Given the description of an element on the screen output the (x, y) to click on. 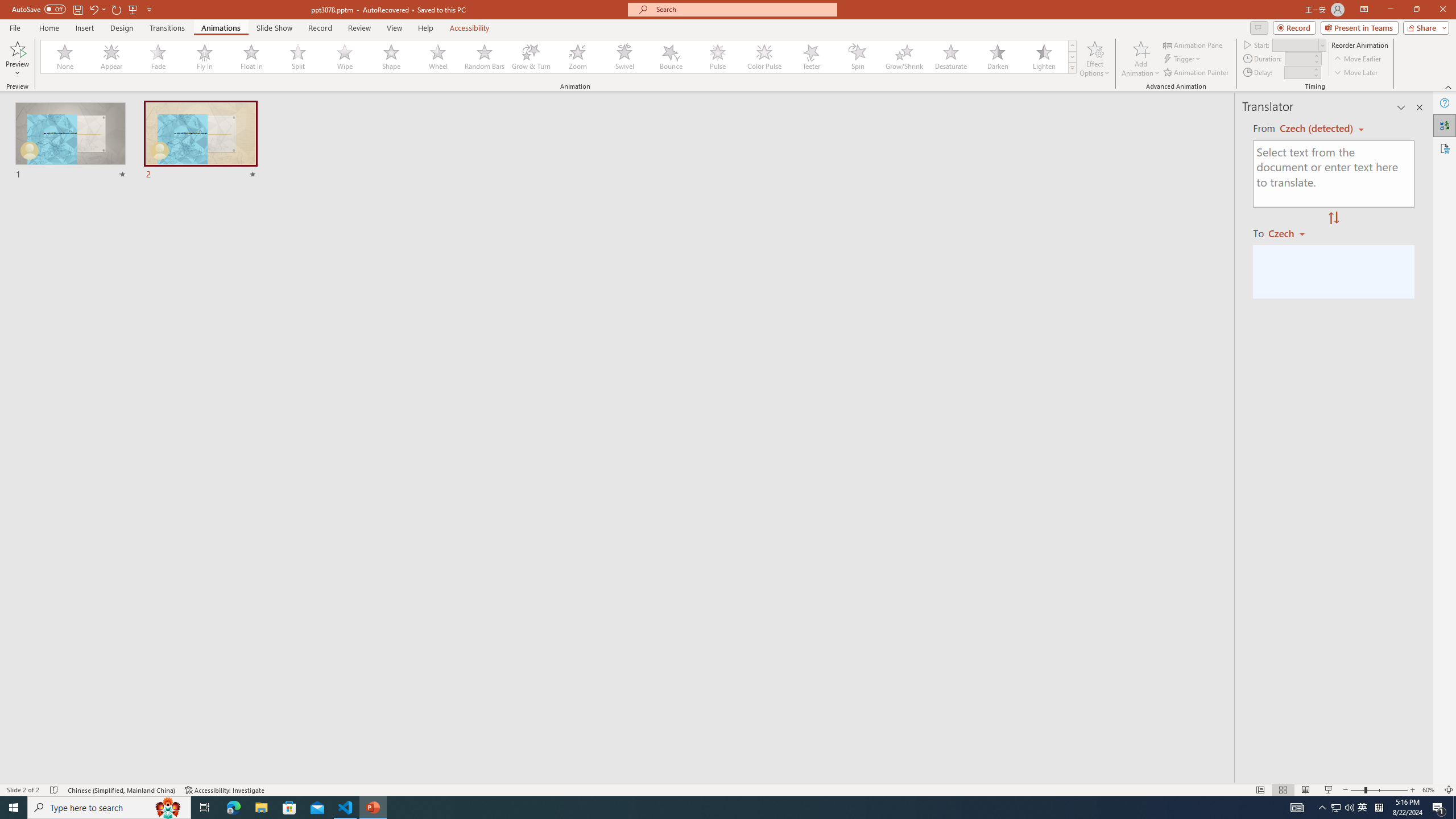
remote (69, 766)
